Given the description of an element on the screen output the (x, y) to click on. 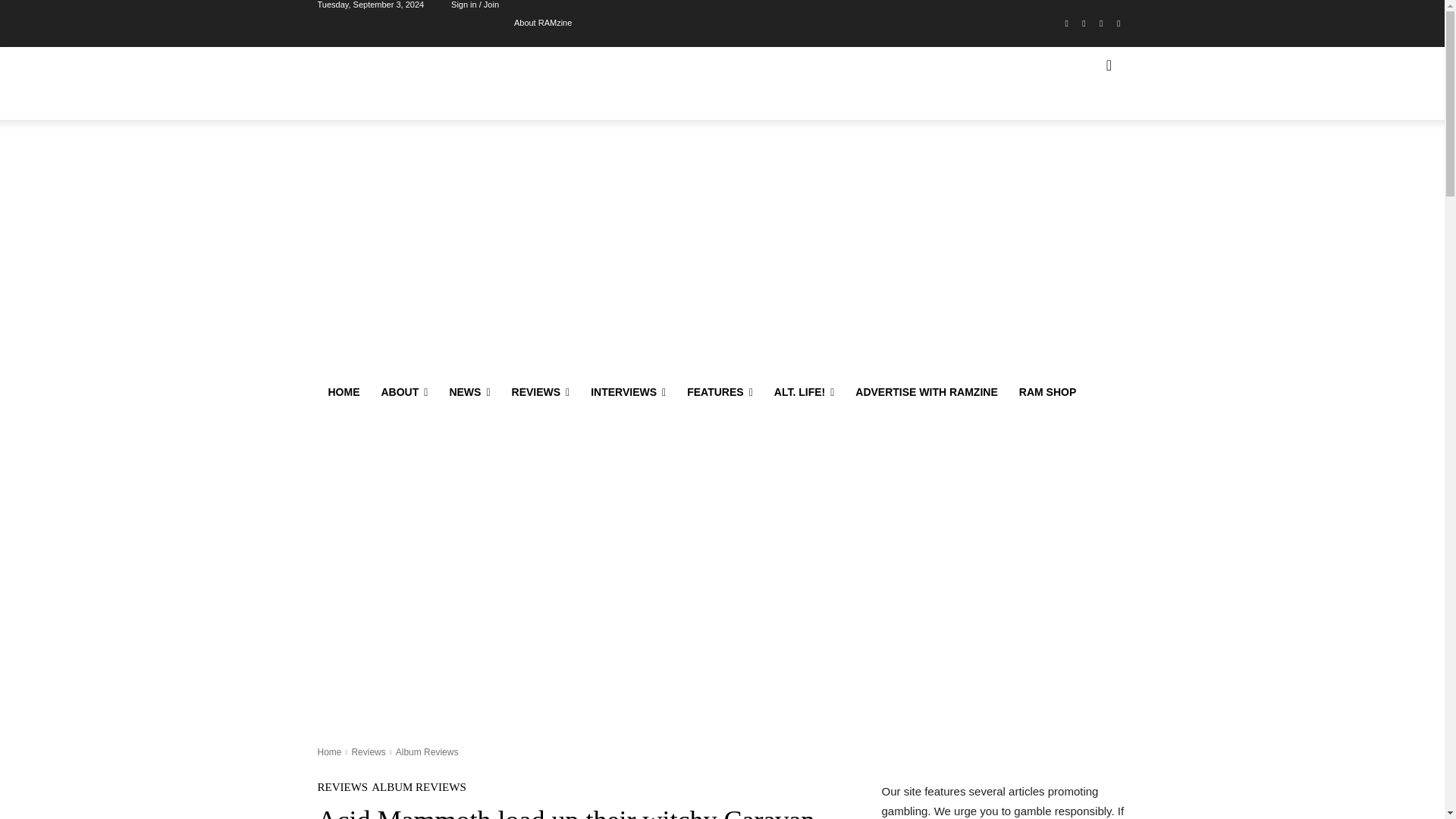
Twitter (1101, 23)
Youtube (1117, 23)
Facebook (1066, 23)
Instagram (1084, 23)
